Given the description of an element on the screen output the (x, y) to click on. 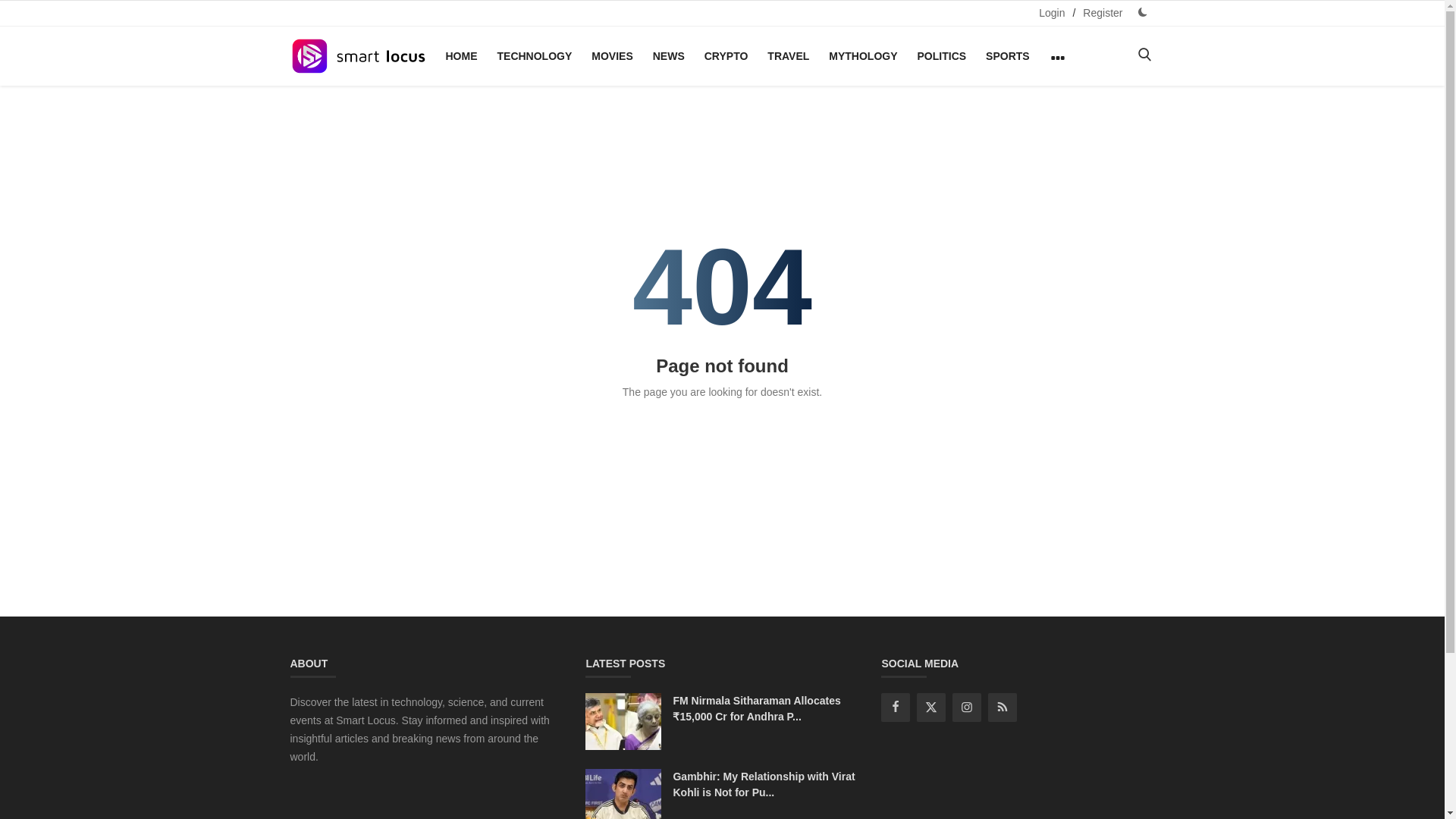
Login (1050, 13)
Register (1102, 13)
dark (28, 608)
dark (1141, 12)
MOVIES (611, 55)
TECHNOLOGY (534, 55)
SPORTS (1007, 55)
TRAVEL (788, 55)
MYTHOLOGY (862, 55)
POLITICS (942, 55)
